Given the description of an element on the screen output the (x, y) to click on. 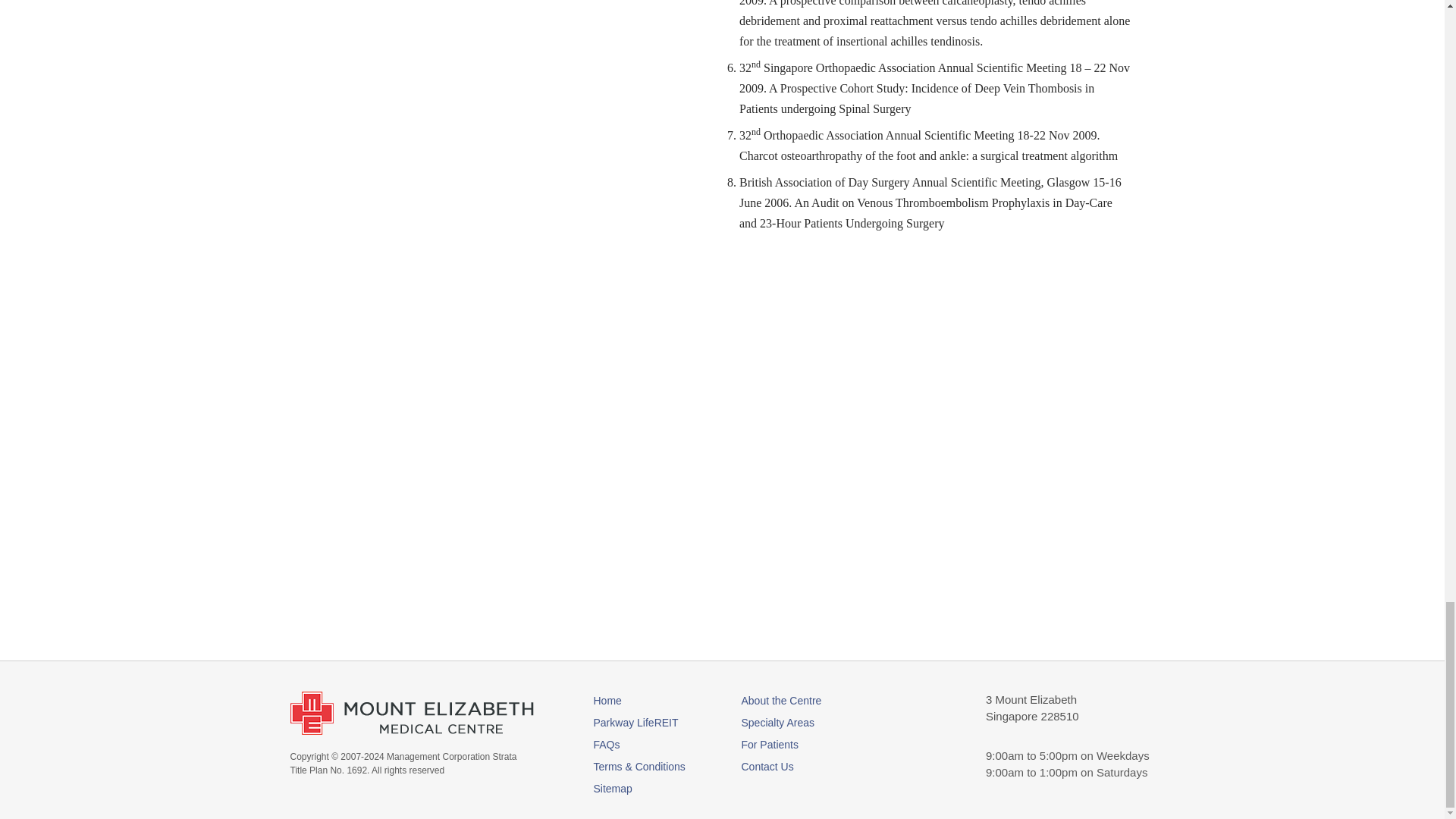
Home (651, 700)
FAQs (651, 744)
Parkway LifeREIT (651, 722)
